Given the description of an element on the screen output the (x, y) to click on. 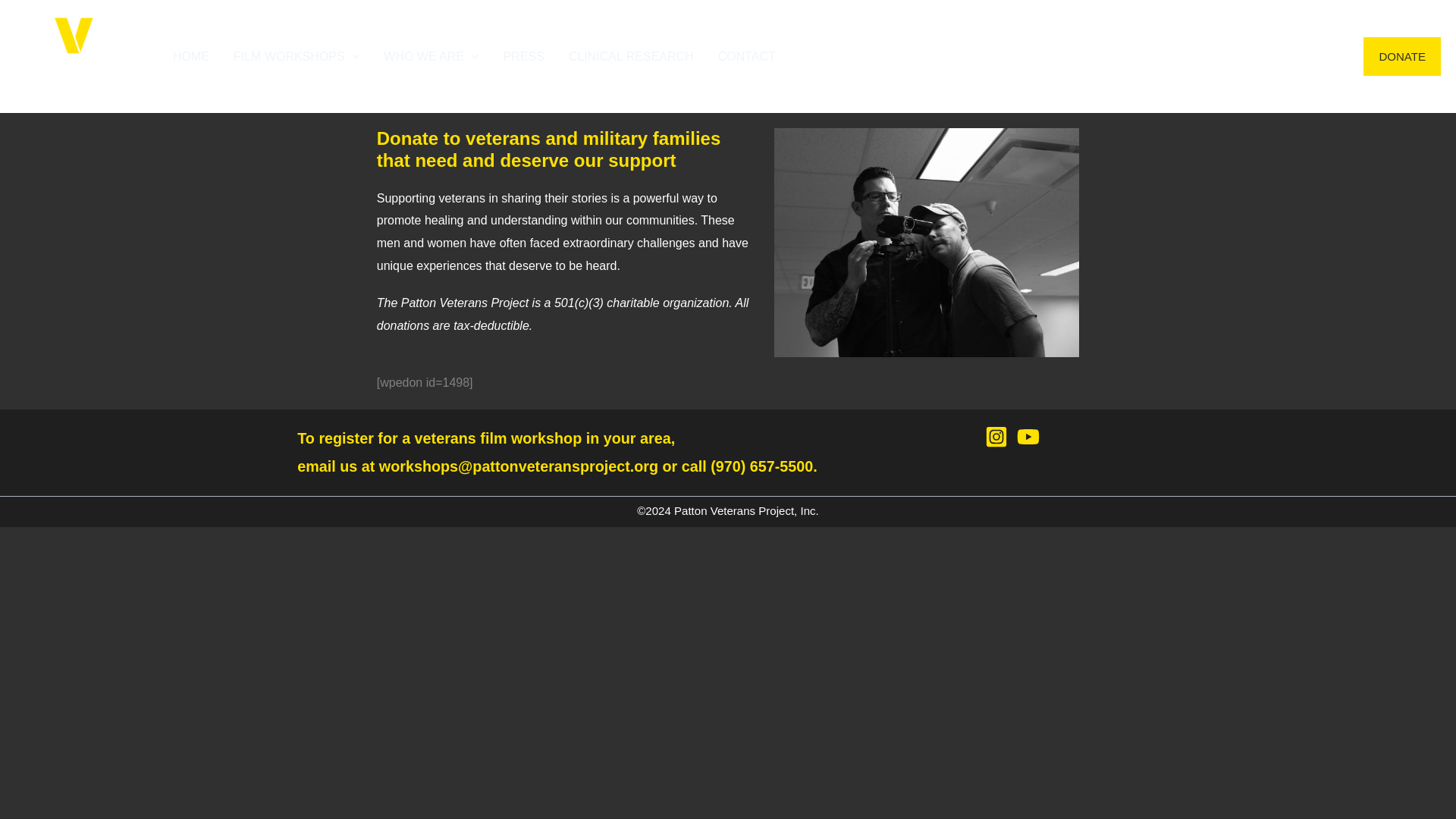
HOME (190, 56)
CLINICAL RESEARCH (631, 56)
Soldiers Ft Carson 2014 (927, 242)
WHO WE ARE (430, 56)
CONTACT (746, 56)
PRESS (524, 56)
FILM WORKSHOPS (296, 56)
DONATE (1401, 56)
